Given the description of an element on the screen output the (x, y) to click on. 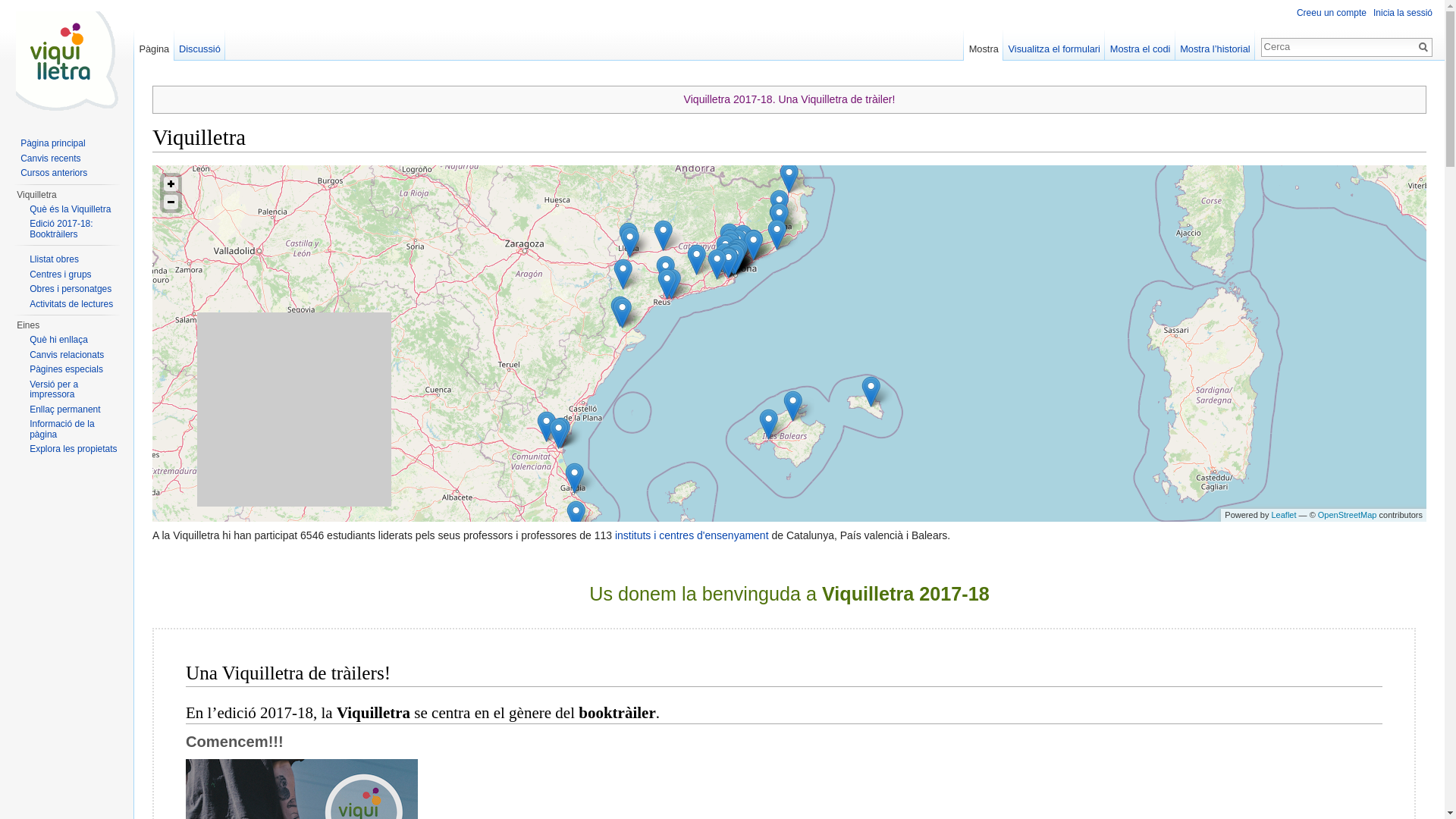
Visualitza el formulari Element type: text (1053, 45)
Alt Foix Element type: hover (696, 259)
Escola Santa Anna Element type: hover (734, 258)
El Quint Element type: hover (545, 426)
Can Peu Blanc Element type: hover (792, 405)
Escola GEM Element type: hover (752, 244)
Escola Pia de Sabadell Element type: hover (729, 244)
Canvis relacionats Element type: text (66, 353)
Zoom out Element type: hover (170, 201)
Creeu un compte Element type: text (1331, 12)
Llistat obres Element type: text (53, 259)
Collblanc Element type: hover (666, 283)
Escola del Treball Element type: hover (733, 258)
Zoom in Element type: hover (170, 183)
Centres i grups Element type: text (60, 273)
Can Peixauet Element type: hover (737, 253)
Mostra Element type: text (983, 45)
Federica Montseny Element type: hover (730, 247)
FEDAC- La Immaculada Element type: hover (728, 238)
Escola Parroquial Nostra Senyora de Montserrat Element type: hover (724, 249)
Baix Tordera Element type: hover (776, 234)
Caldes de Malavella Element type: hover (777, 217)
Escola Projecte Element type: hover (731, 257)
Gallecs Element type: hover (737, 244)
Alexandre Deulofeu Element type: hover (788, 177)
Activitats de lectures Element type: text (70, 303)
Cursos anteriors Element type: text (53, 172)
El Carme Element type: hover (627, 237)
Flix Element type: hover (622, 273)
Esteve terradas i illa Element type: hover (727, 261)
Escola Vedruna Girona Element type: hover (778, 204)
FCP Sagrat Cor Element type: hover (671, 283)
Doctor Puigvert Element type: hover (736, 253)
Carles Vallbona Element type: hover (742, 239)
Beatriu Fajardo Element type: hover (575, 515)
Cerca a Viquilletra [alt-shift-f] Element type: hover (1338, 45)
instituts i centres d'ensenyament Element type: text (691, 535)
Esteve Terradas Element type: hover (727, 262)
Obres i personatges Element type: text (70, 288)
Canvis recents Element type: text (50, 158)
Departament d'Ensenyament de la Generalitat de Catalunya Element type: hover (732, 257)
Cor de Maria-Sabastida Element type: hover (733, 255)
CALDES DE MALAVELLA Element type: hover (778, 217)
Explora les propietats Element type: text (72, 448)
OpenStreetMap Element type: text (1347, 514)
Mostra el codi Element type: text (1139, 45)
Abastos Element type: hover (558, 432)
Leaflet Element type: text (1282, 514)
Fonts del Glorieta Element type: hover (664, 270)
